Given the description of an element on the screen output the (x, y) to click on. 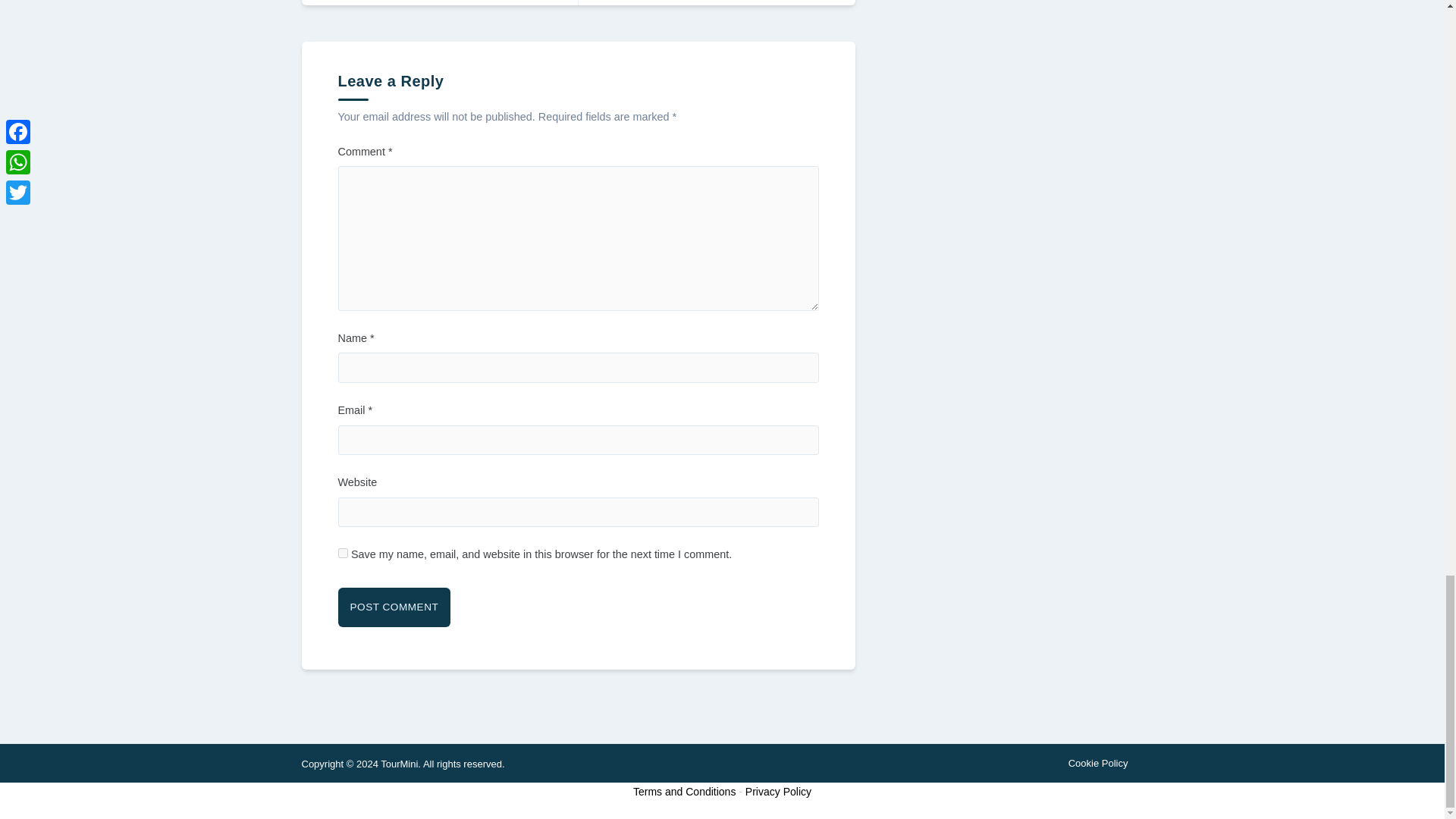
Post Comment (394, 607)
yes (716, 2)
Post Comment (342, 552)
